Given the description of an element on the screen output the (x, y) to click on. 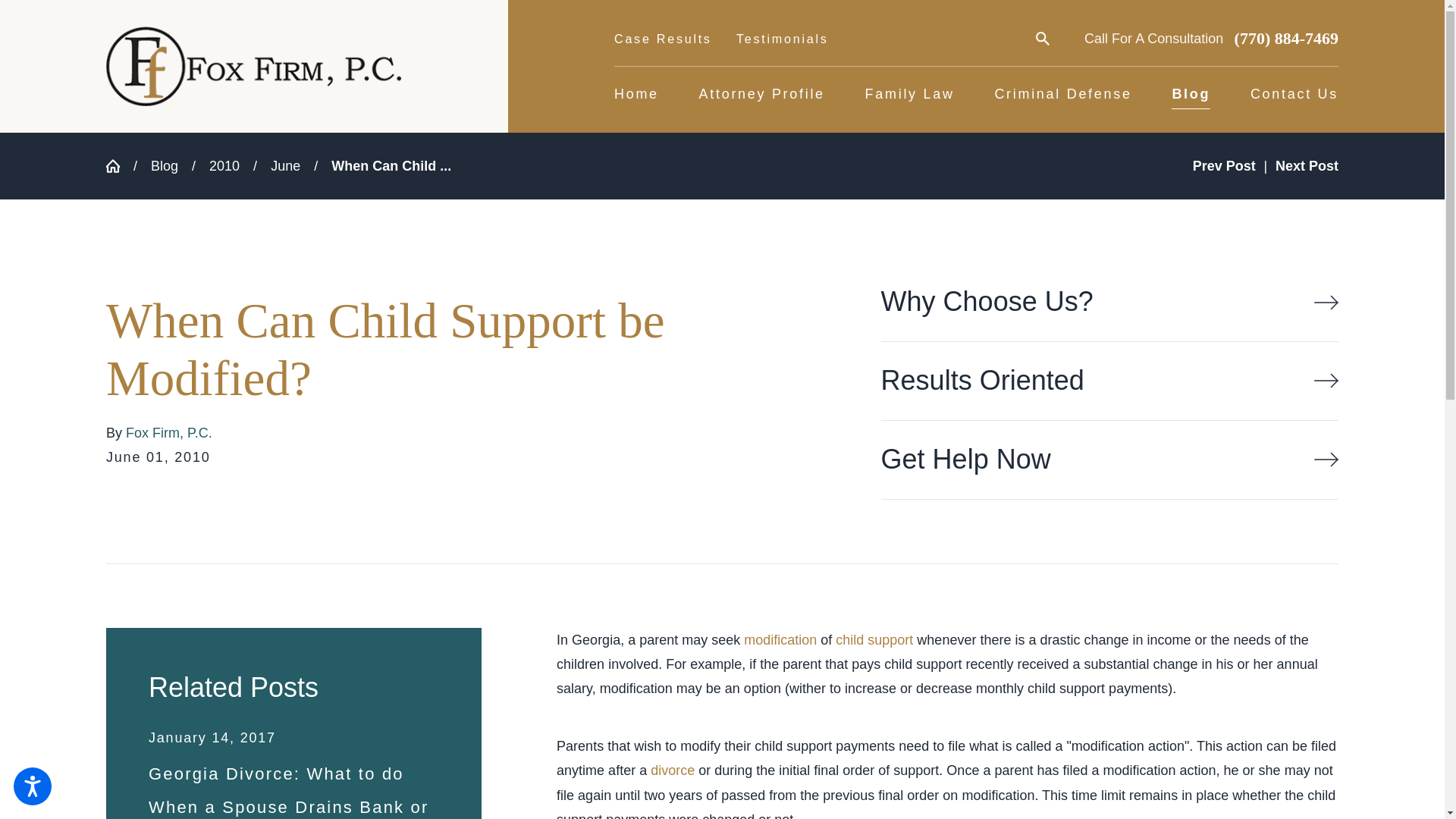
Search our site (1042, 38)
Case Results (662, 43)
Home (636, 94)
Fox Firm, P.C. (253, 66)
Family Law (909, 94)
Testimonials (782, 43)
Attorney Profile (761, 94)
Go Home (119, 165)
Open the accessibility options menu (31, 786)
